Given the description of an element on the screen output the (x, y) to click on. 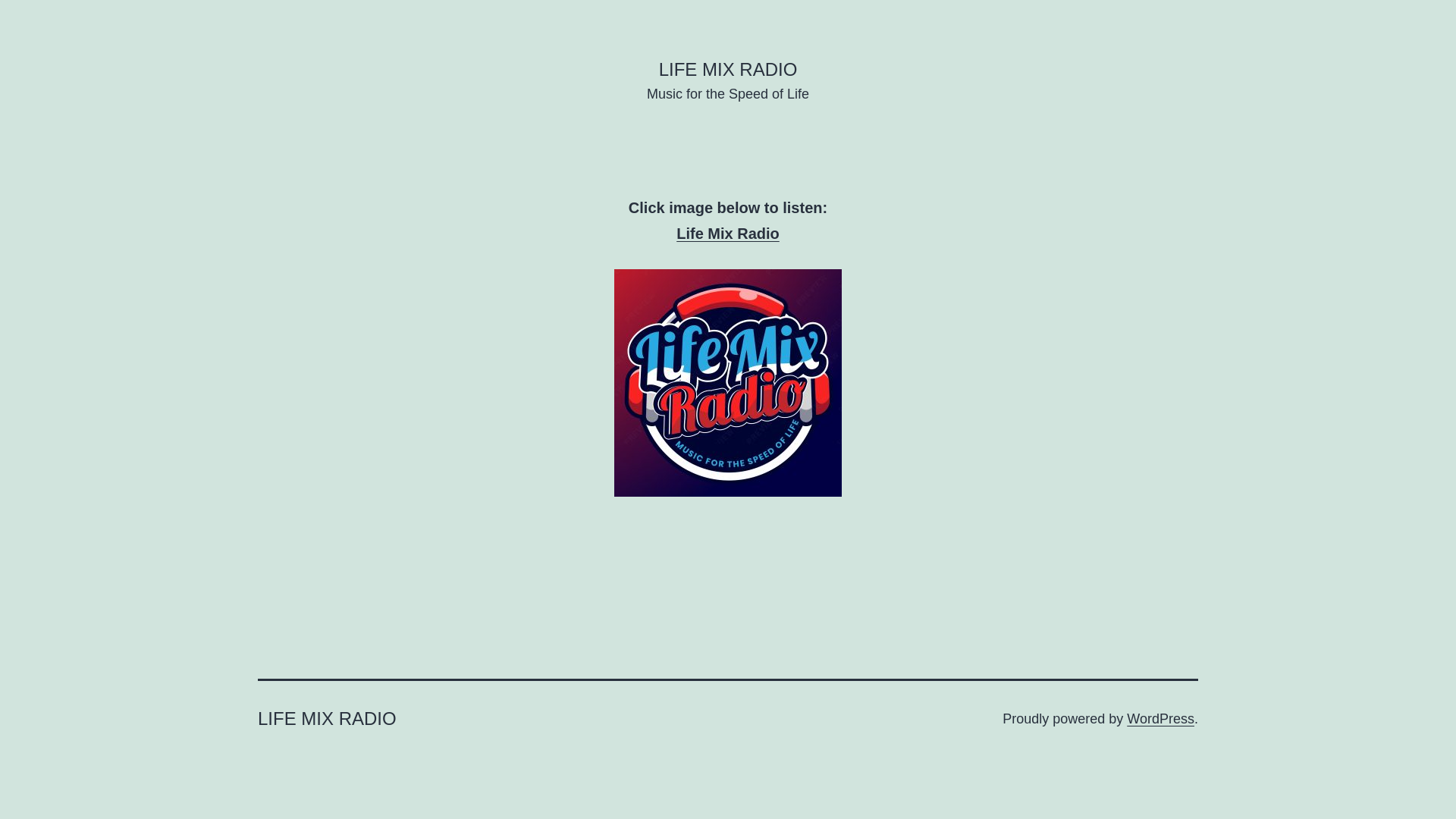
Life Mix Radio Element type: text (727, 233)
WordPress Element type: text (1160, 718)
